Given the description of an element on the screen output the (x, y) to click on. 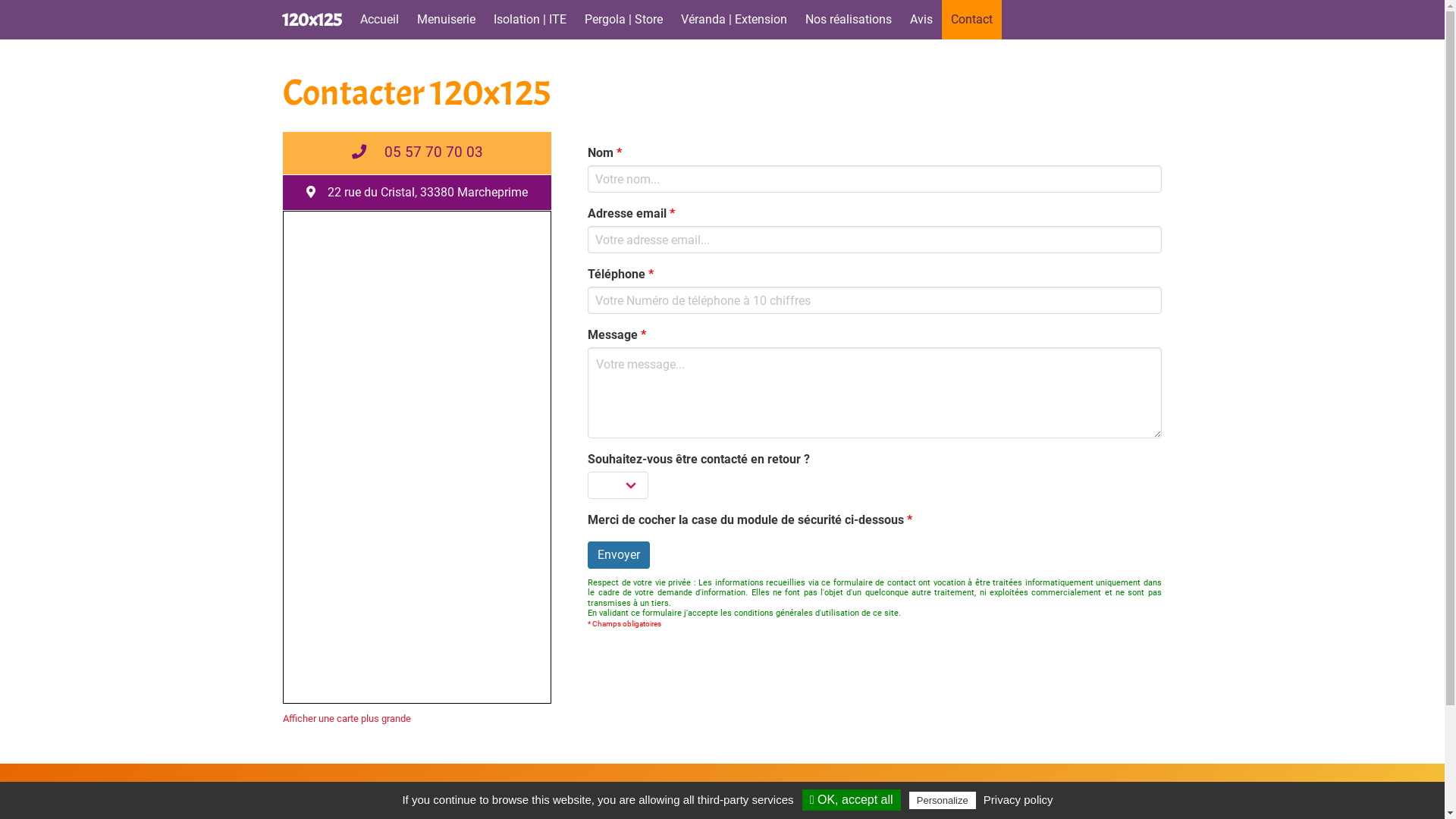
Envoyer Element type: text (618, 554)
Isolation | ITE Element type: text (529, 19)
Avis Element type: text (920, 19)
Accueil Element type: text (379, 19)
Privacy policy Element type: text (1018, 799)
Skip to main content Element type: text (0, 45)
Pergola | Store Element type: text (623, 19)
Contact Element type: text (971, 19)
Menuiserie Element type: text (445, 19)
Afficher une carte plus grande Element type: text (346, 718)
Personalize Element type: text (942, 800)
